Given the description of an element on the screen output the (x, y) to click on. 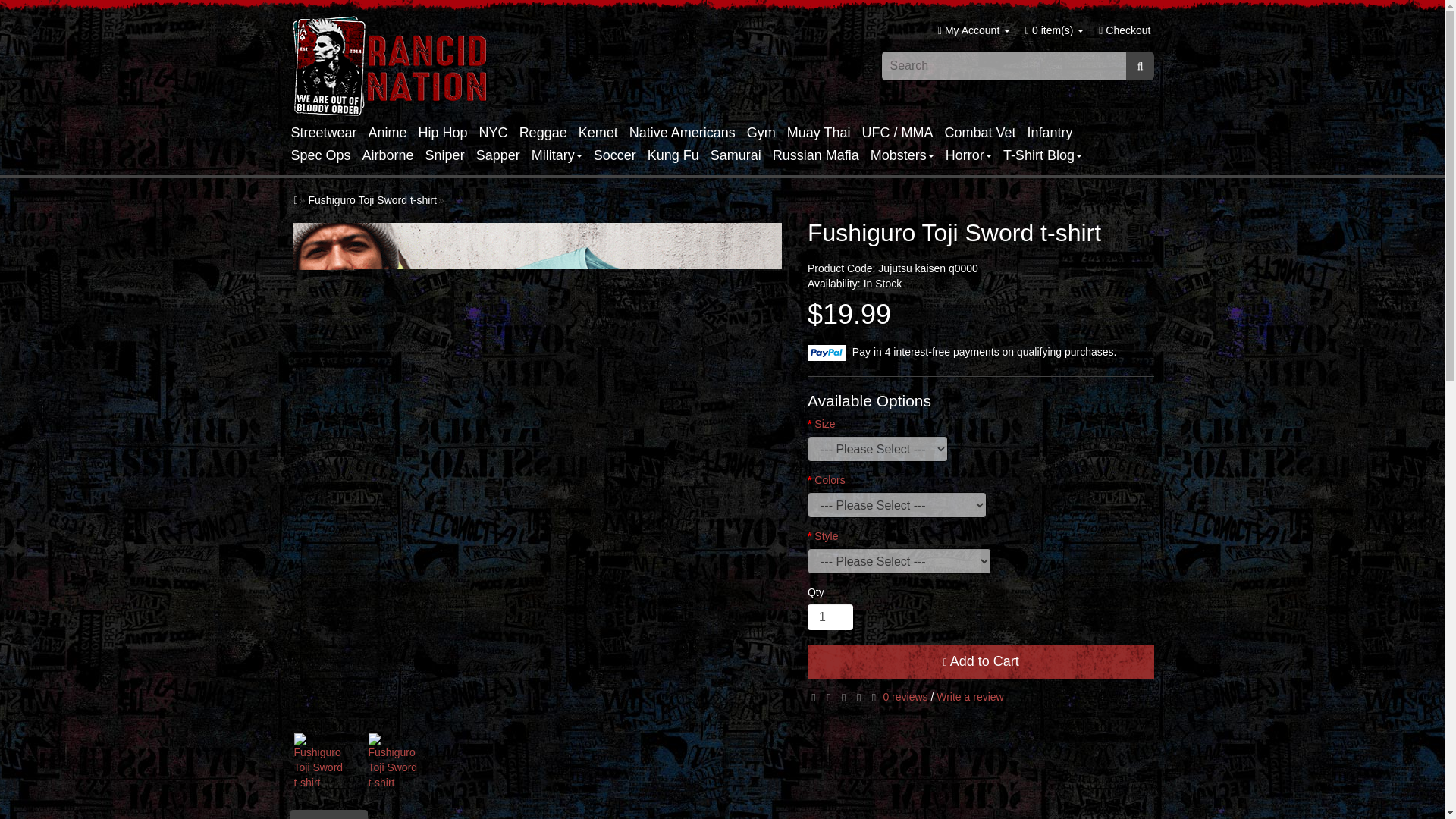
My Account (973, 30)
Military (562, 155)
Horror (973, 155)
Hip Hop (449, 132)
Gym (766, 132)
Fushiguro Toji Sword t-shirt (319, 761)
Sapper (503, 155)
Checkout (1124, 30)
Samurai (741, 155)
Checkout (1124, 30)
Combat Vet (985, 132)
Reggae (548, 132)
Mobsters (907, 155)
Anime (393, 132)
